Given the description of an element on the screen output the (x, y) to click on. 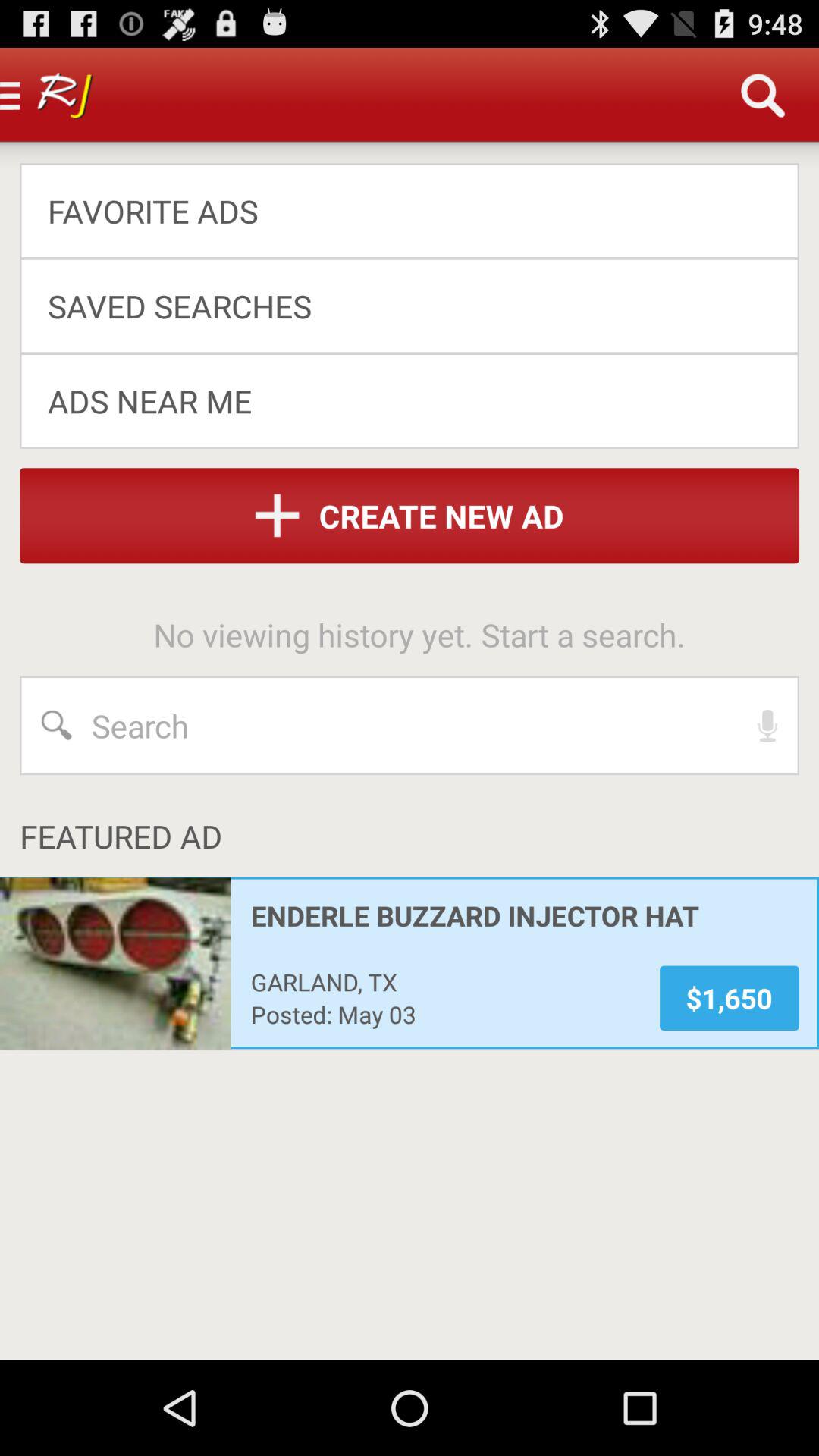
enter search field (409, 725)
